Given the description of an element on the screen output the (x, y) to click on. 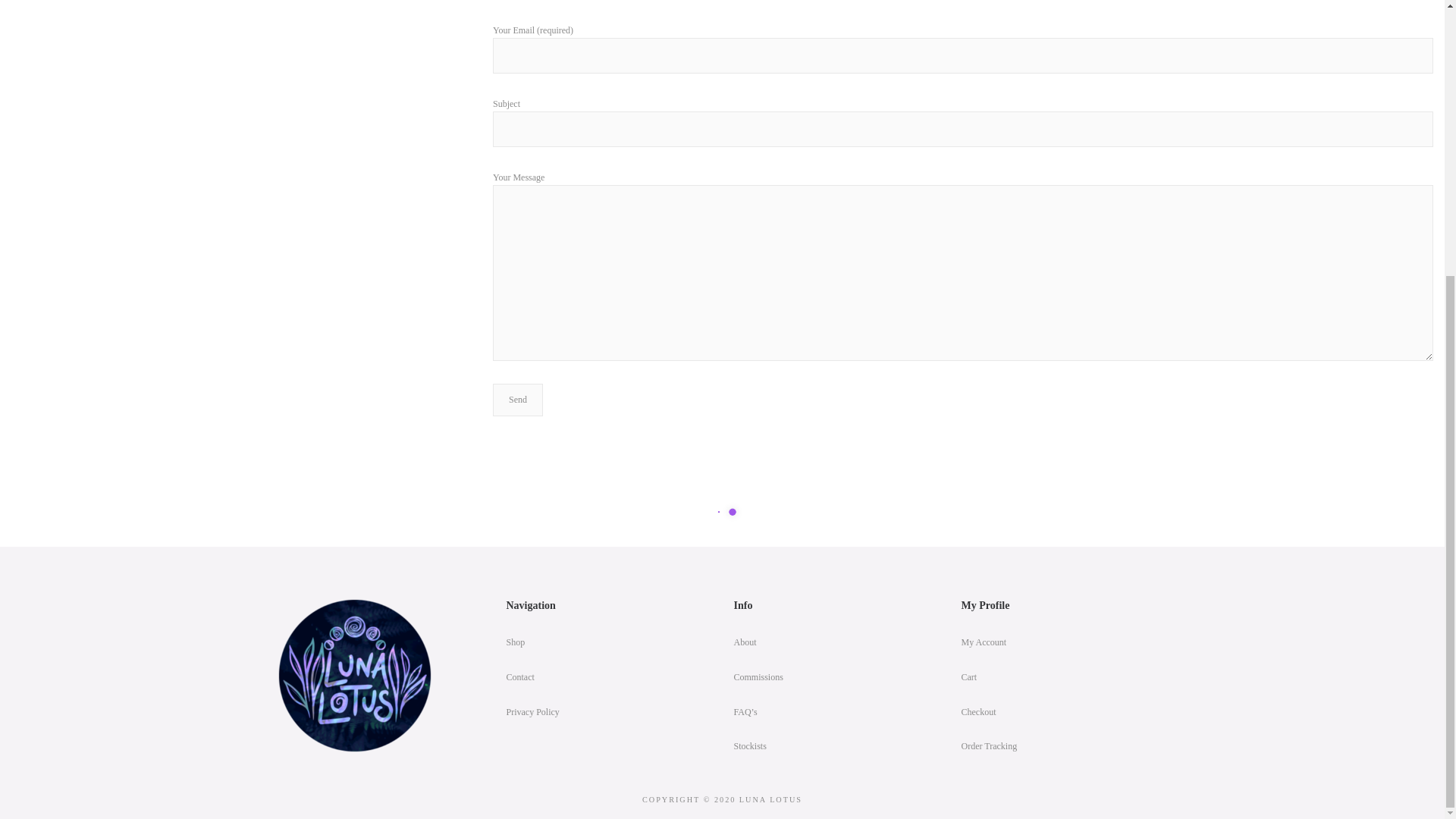
Send (518, 400)
